Given the description of an element on the screen output the (x, y) to click on. 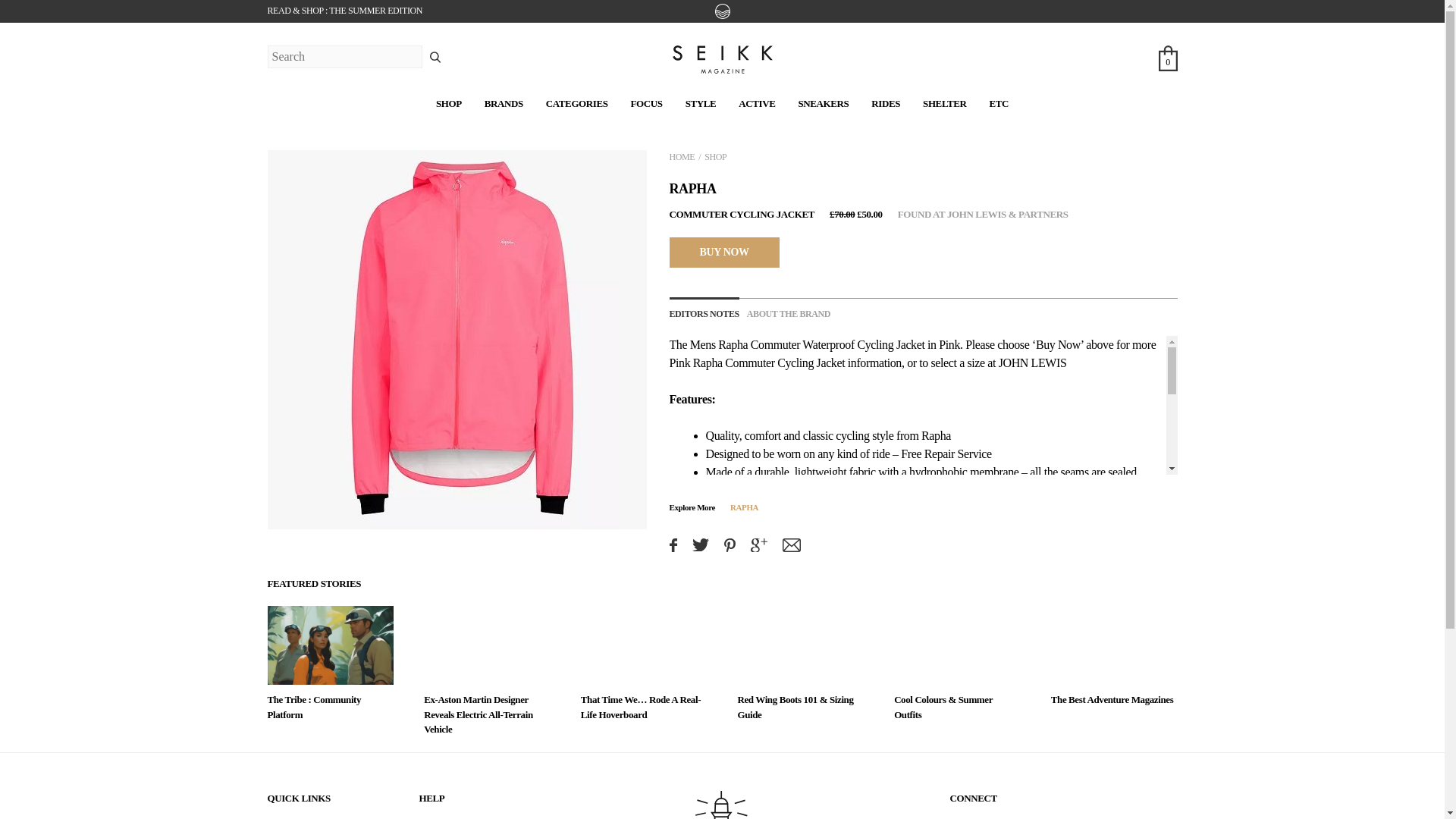
Rapha (732, 344)
BUY NOW (723, 251)
ACTIVE (756, 102)
SHELTER (944, 102)
SNEAKERS (822, 102)
BRANDS (503, 102)
CATEGORIES (577, 102)
STYLE (700, 102)
HOME (681, 156)
RAPHA (692, 188)
SHOP (448, 102)
RAPHA (744, 506)
RIDES (884, 102)
SHOP (715, 156)
ETC (998, 102)
